Given the description of an element on the screen output the (x, y) to click on. 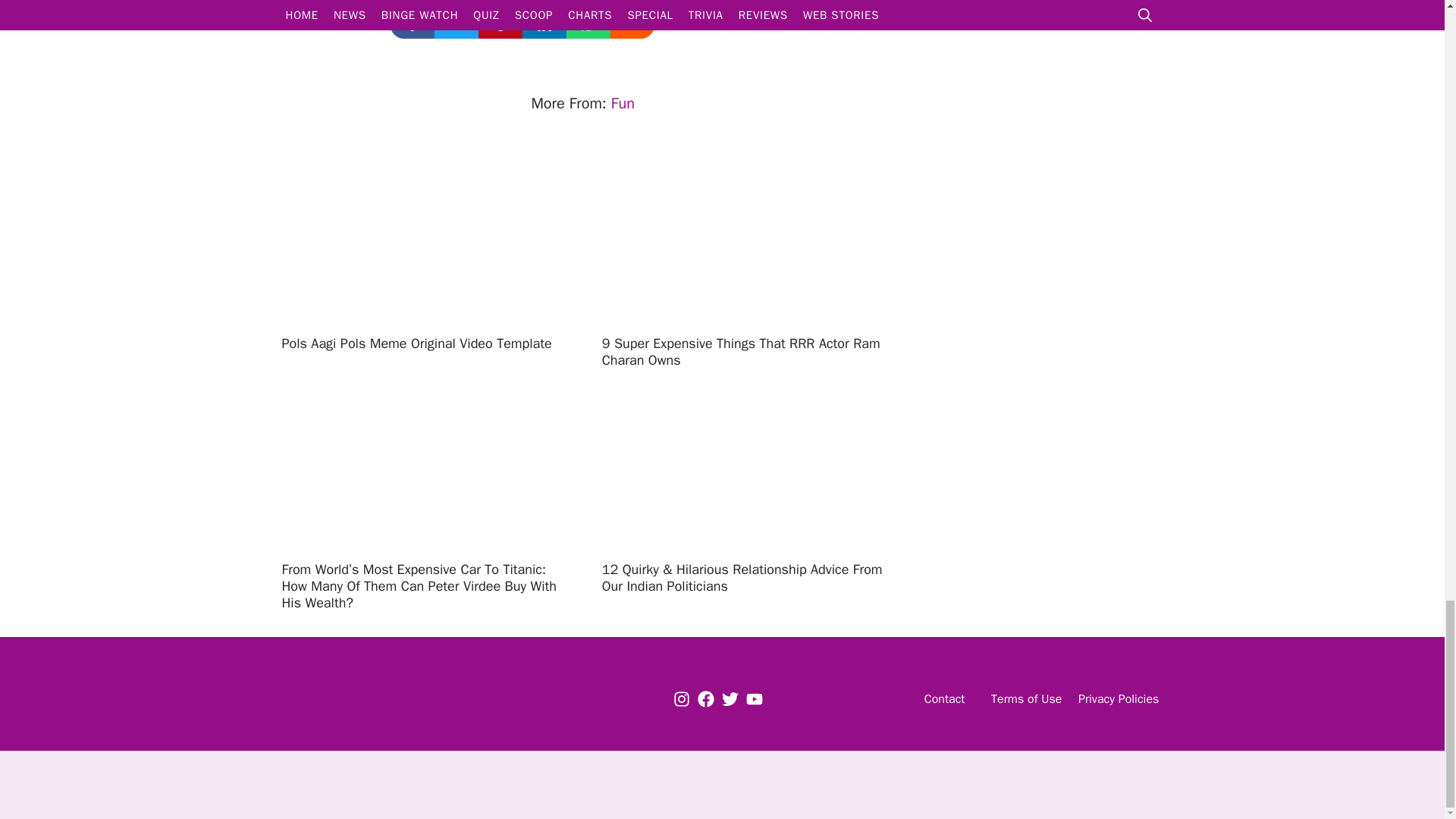
Logo x1 (372, 699)
